Given the description of an element on the screen output the (x, y) to click on. 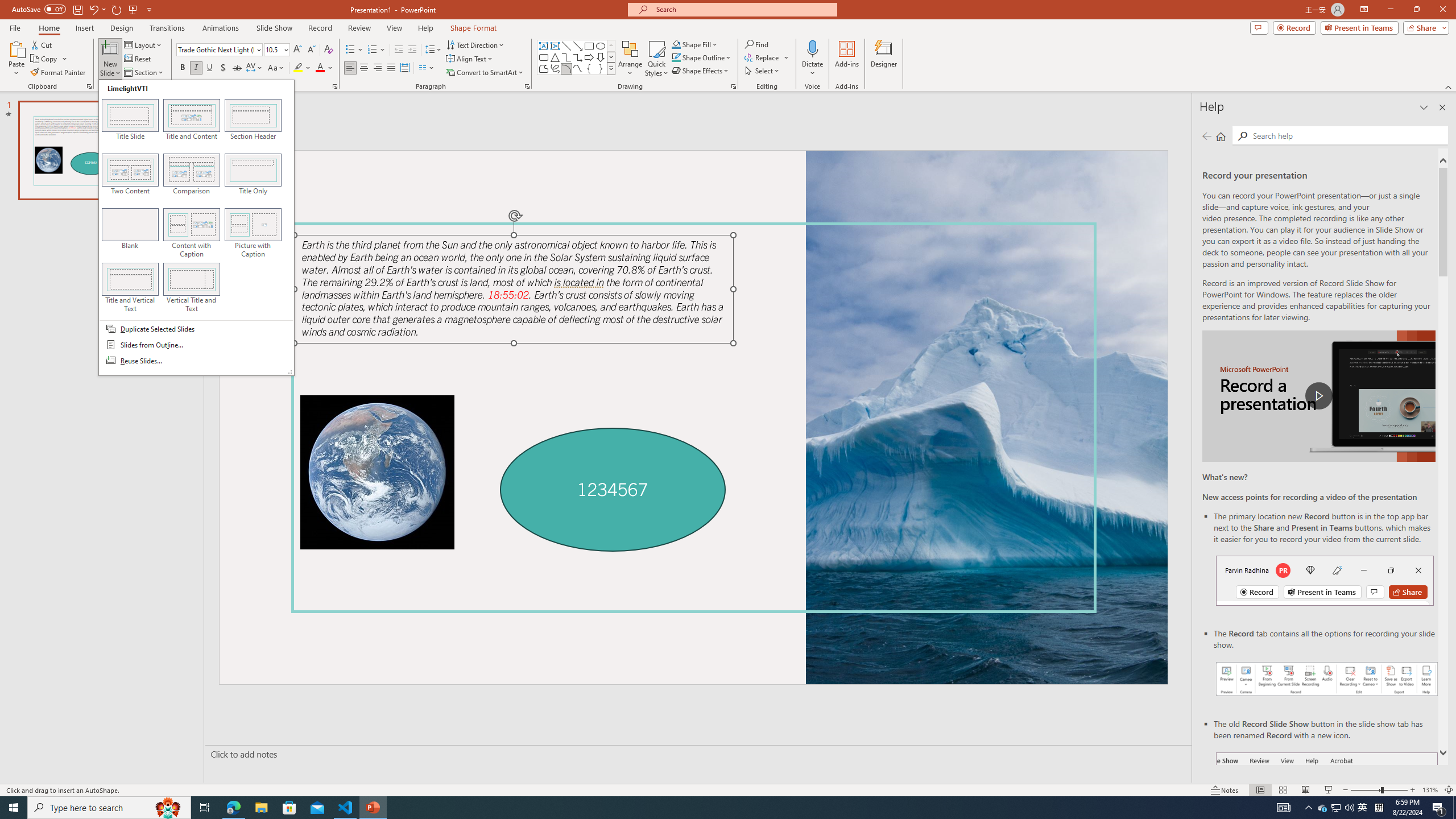
Shape Outline Teal, Accent 1 (675, 56)
Action Center, 1 new notification (1439, 807)
